Given the description of an element on the screen output the (x, y) to click on. 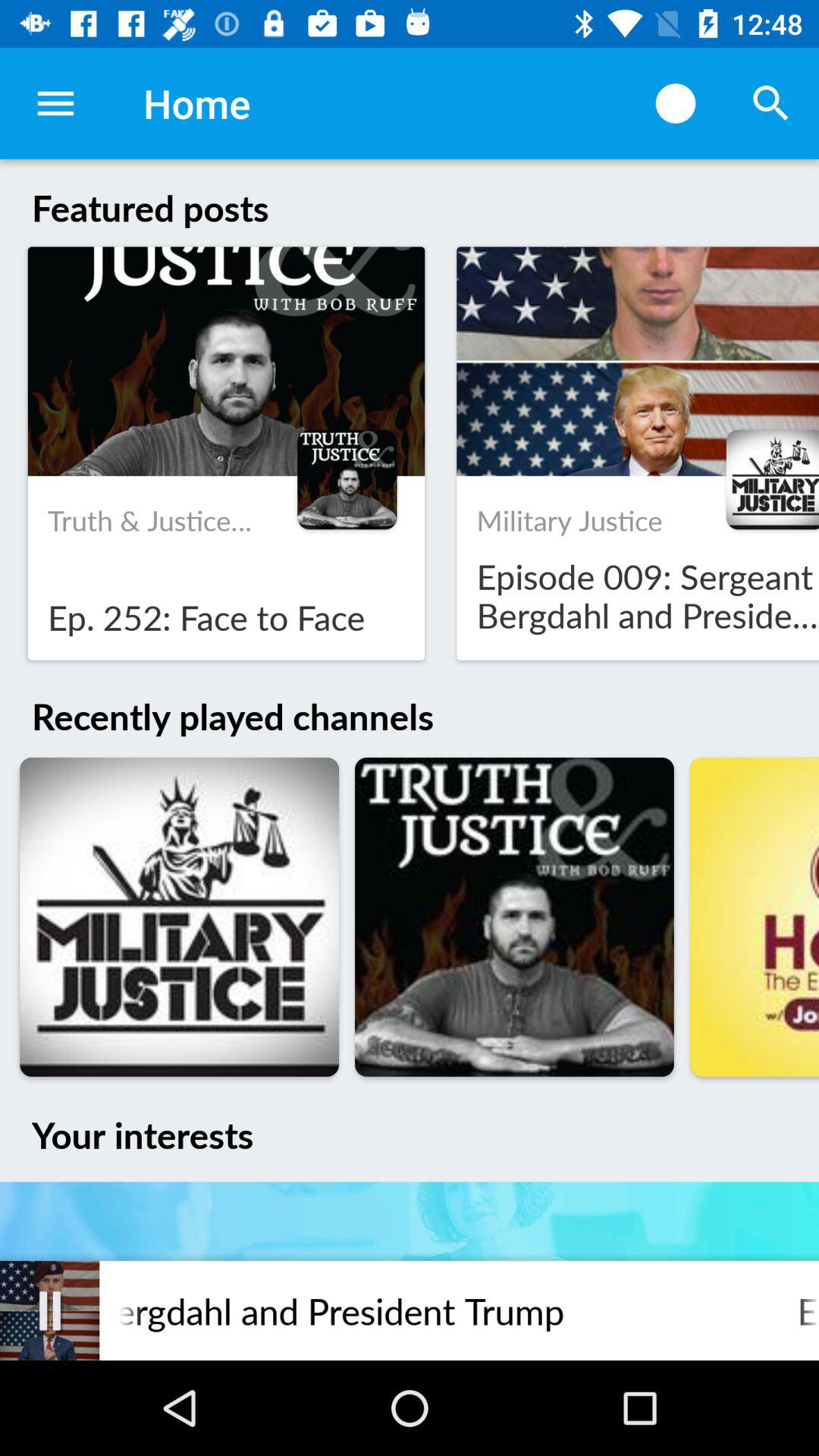
turn off item next to the home item (675, 103)
